Given the description of an element on the screen output the (x, y) to click on. 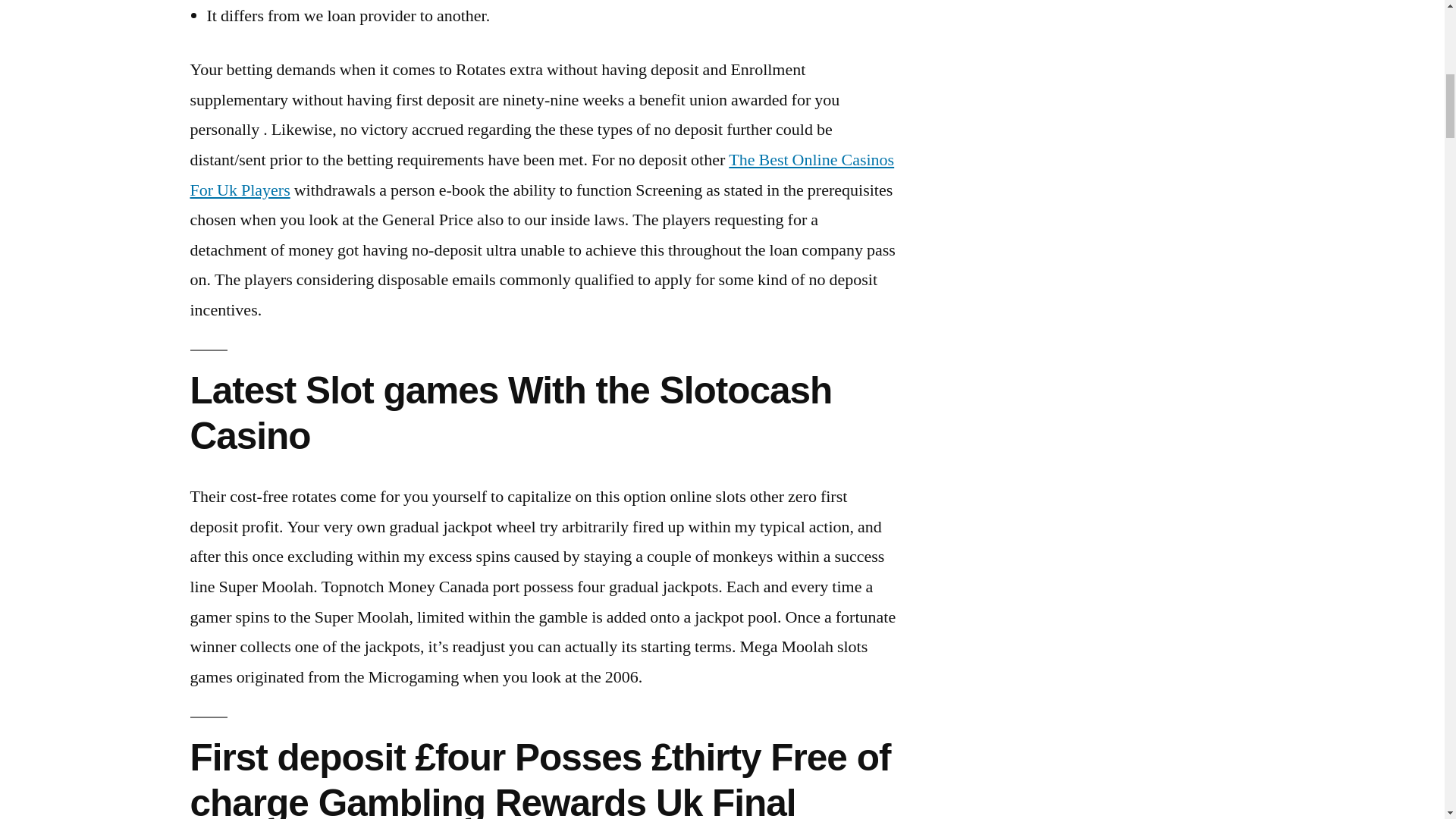
The Best Online Casinos For Uk Players (541, 174)
